Given the description of an element on the screen output the (x, y) to click on. 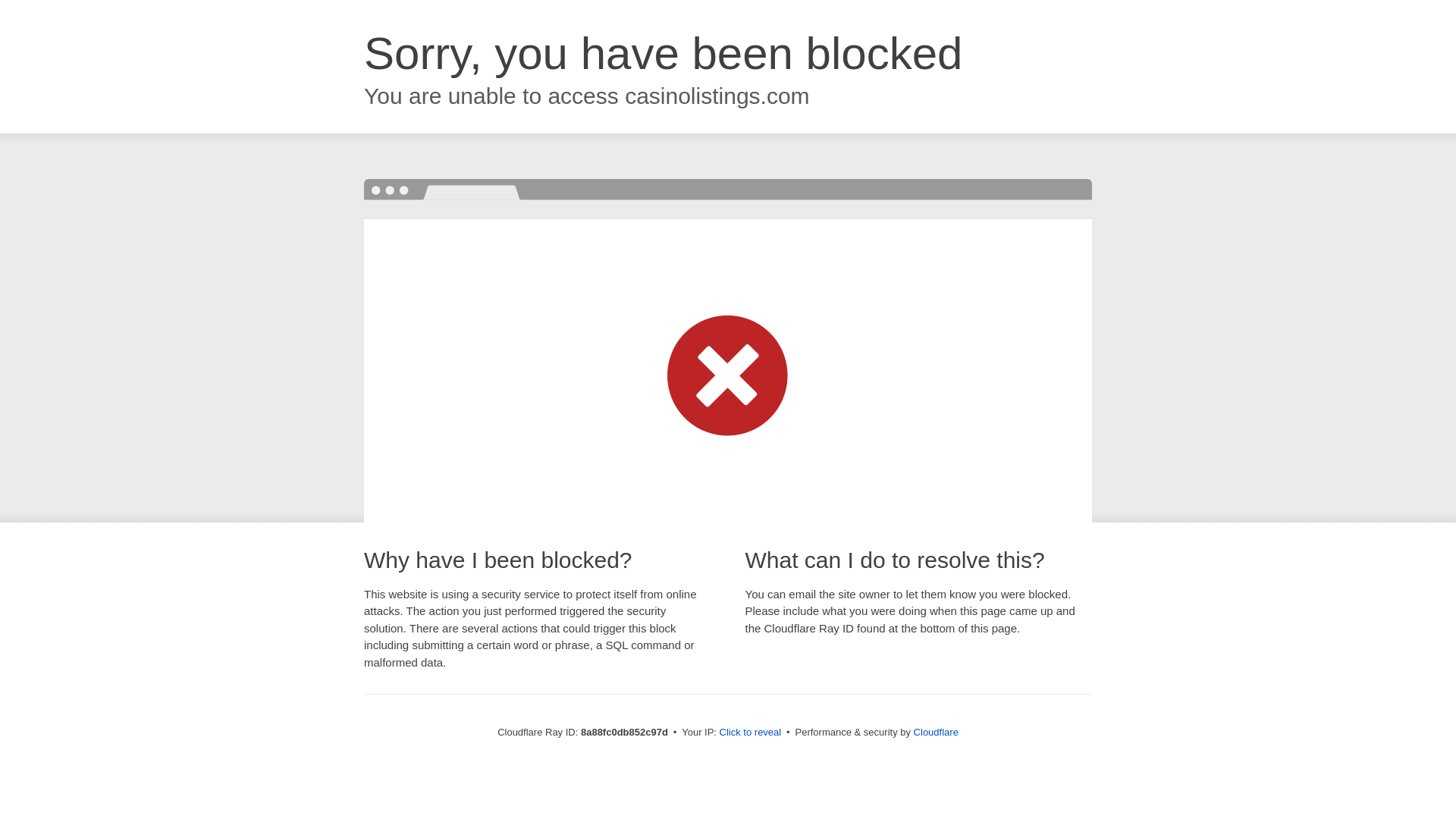
Cloudflare (936, 731)
Click to reveal (750, 732)
